Given the description of an element on the screen output the (x, y) to click on. 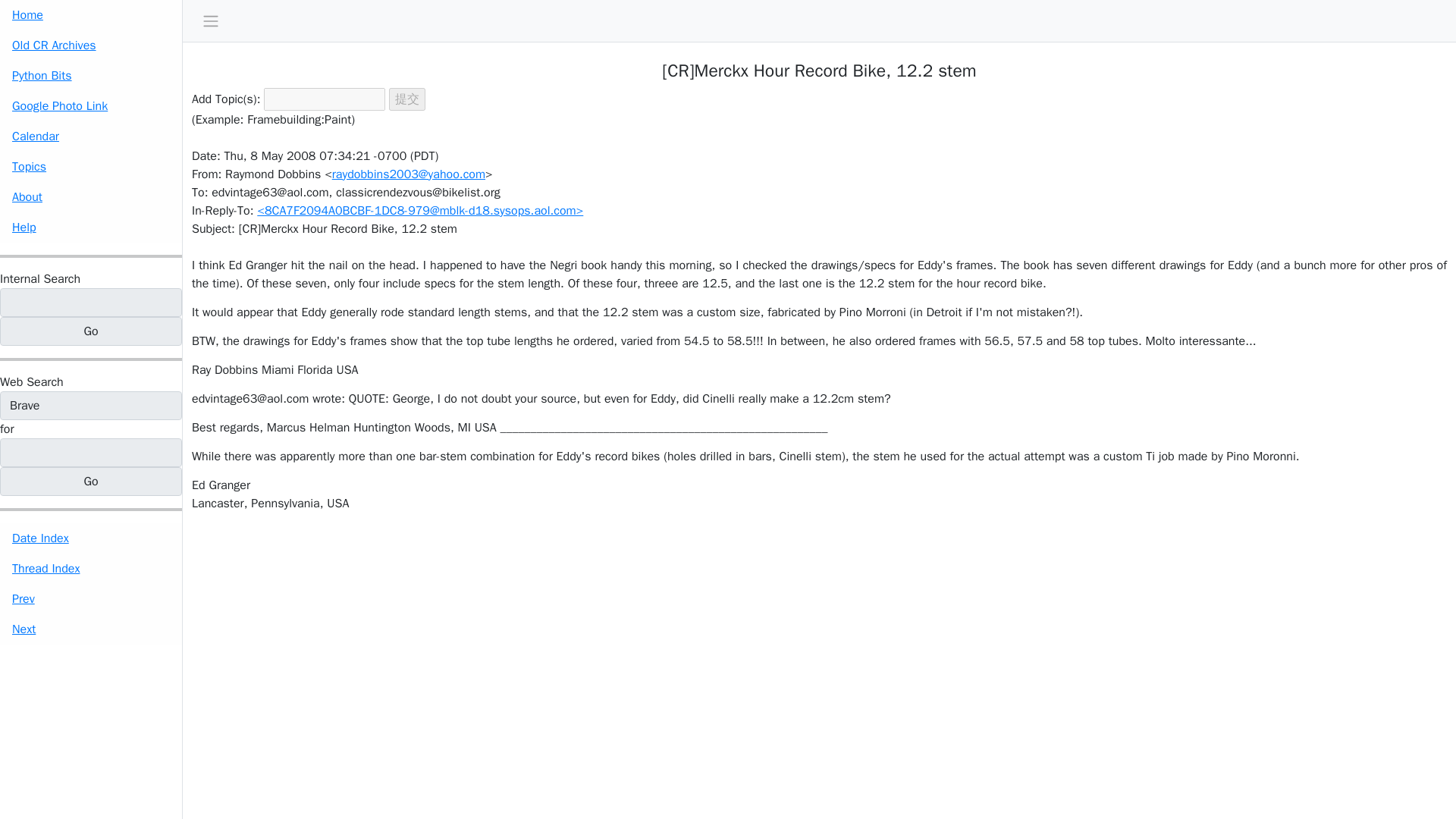
Old CR Archives (91, 45)
Help (91, 227)
Topics (91, 166)
About (91, 196)
Python Bits (91, 75)
Go (91, 330)
Go (91, 481)
Calendar (91, 136)
Enter a word or phrase to search the archive. (40, 279)
Next (91, 629)
Google Photo Link (91, 105)
Go (91, 481)
Thread Index (91, 568)
Go (91, 330)
Prev (91, 598)
